Given the description of an element on the screen output the (x, y) to click on. 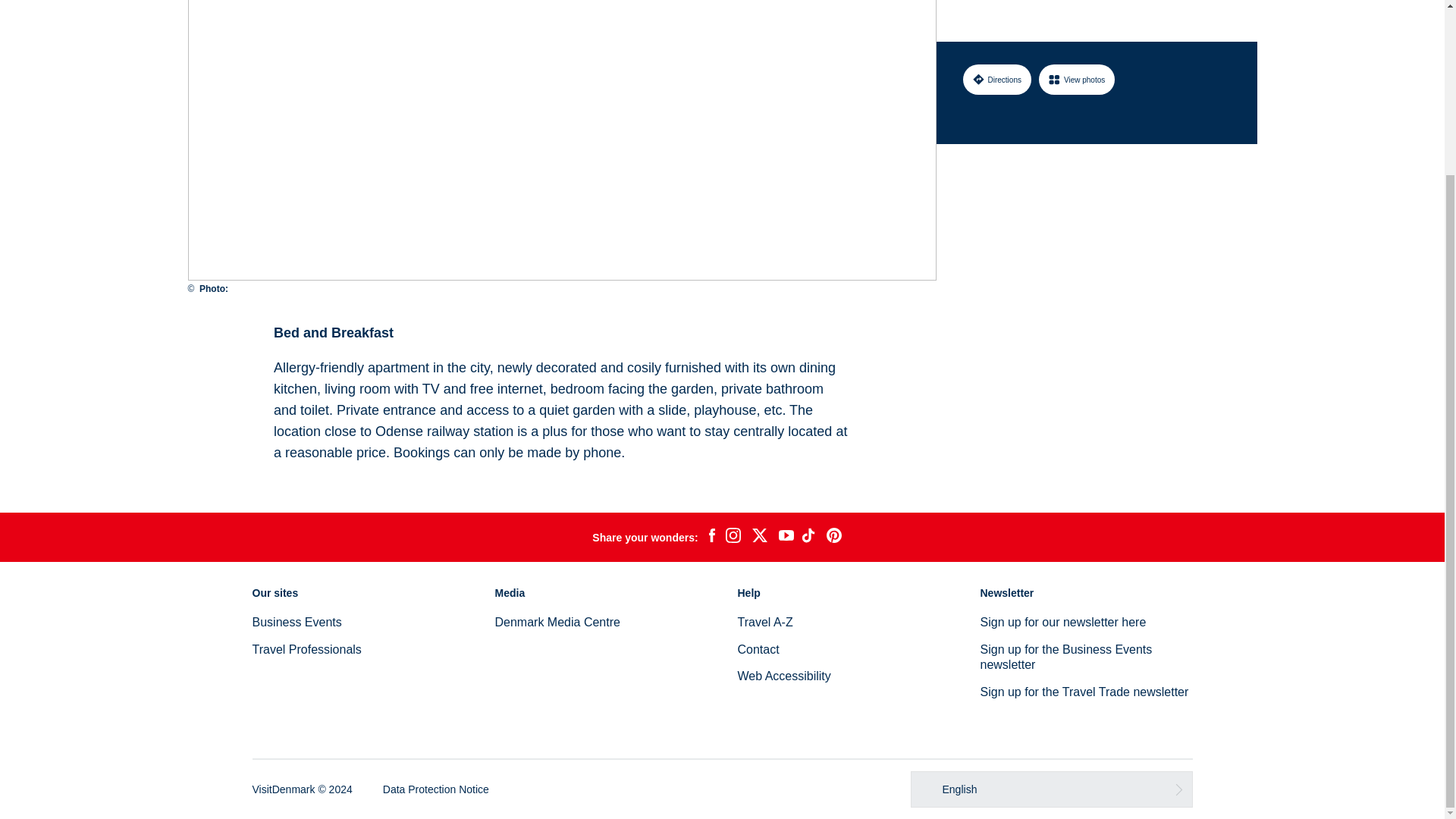
Travel A-Z (764, 621)
Business Events (295, 621)
twitter (759, 537)
Web Accessibility (782, 675)
Sign up for the Travel Trade newsletter (1083, 691)
Sign up for the Business Events newsletter (1065, 656)
pinterest (834, 537)
View photos (1077, 5)
Sign up for the Travel Trade newsletter (1083, 691)
Web Accessibility (782, 675)
